Given the description of an element on the screen output the (x, y) to click on. 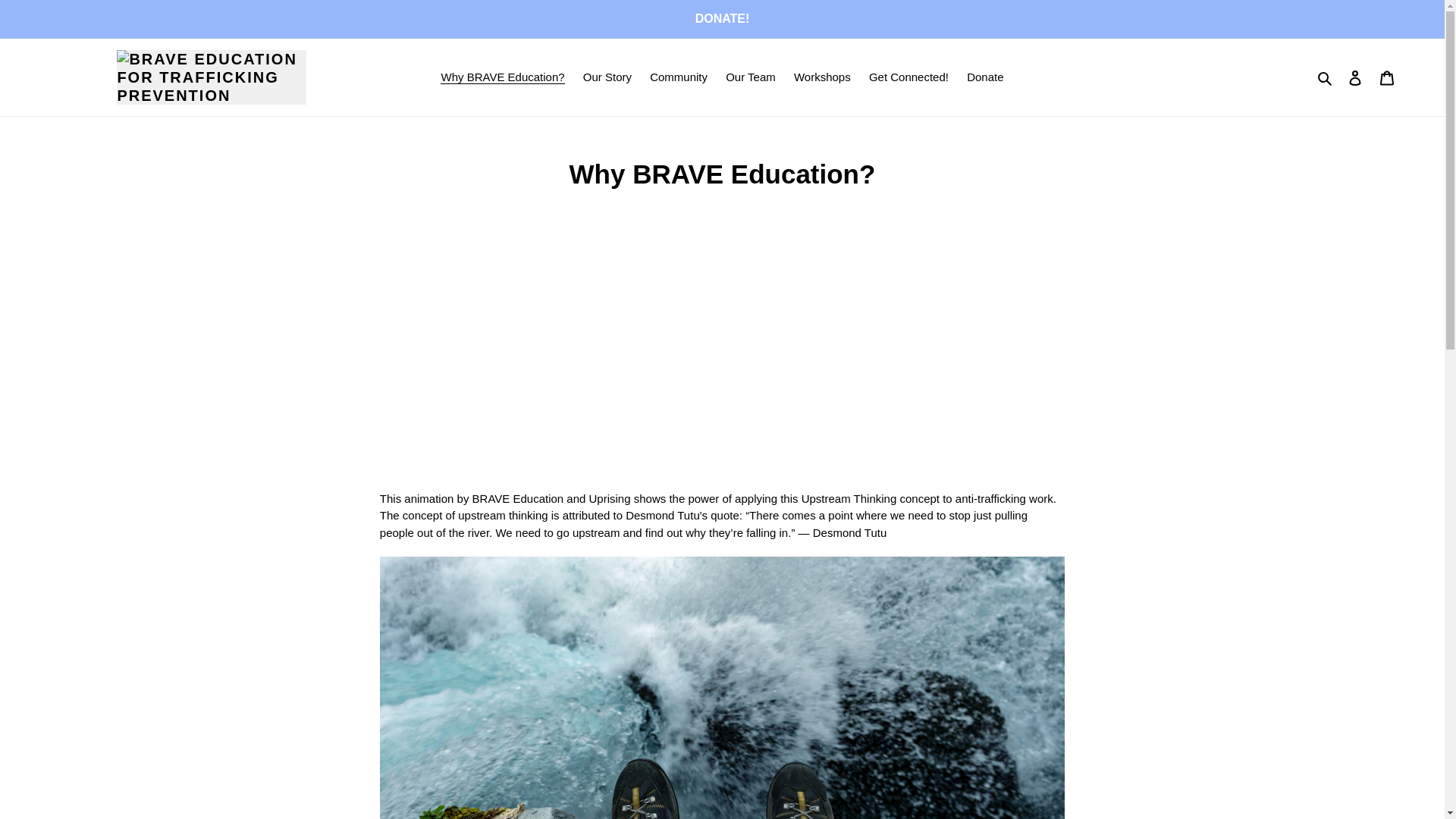
Donate (984, 77)
Cart (1387, 77)
Log in (1355, 77)
Workshops (822, 77)
DONATE! (721, 18)
YouTube video player (592, 350)
Our Story (607, 77)
Get Connected! (908, 77)
Our Team (750, 77)
Why BRAVE Education? (502, 77)
Community (678, 77)
Search (1326, 76)
